Given the description of an element on the screen output the (x, y) to click on. 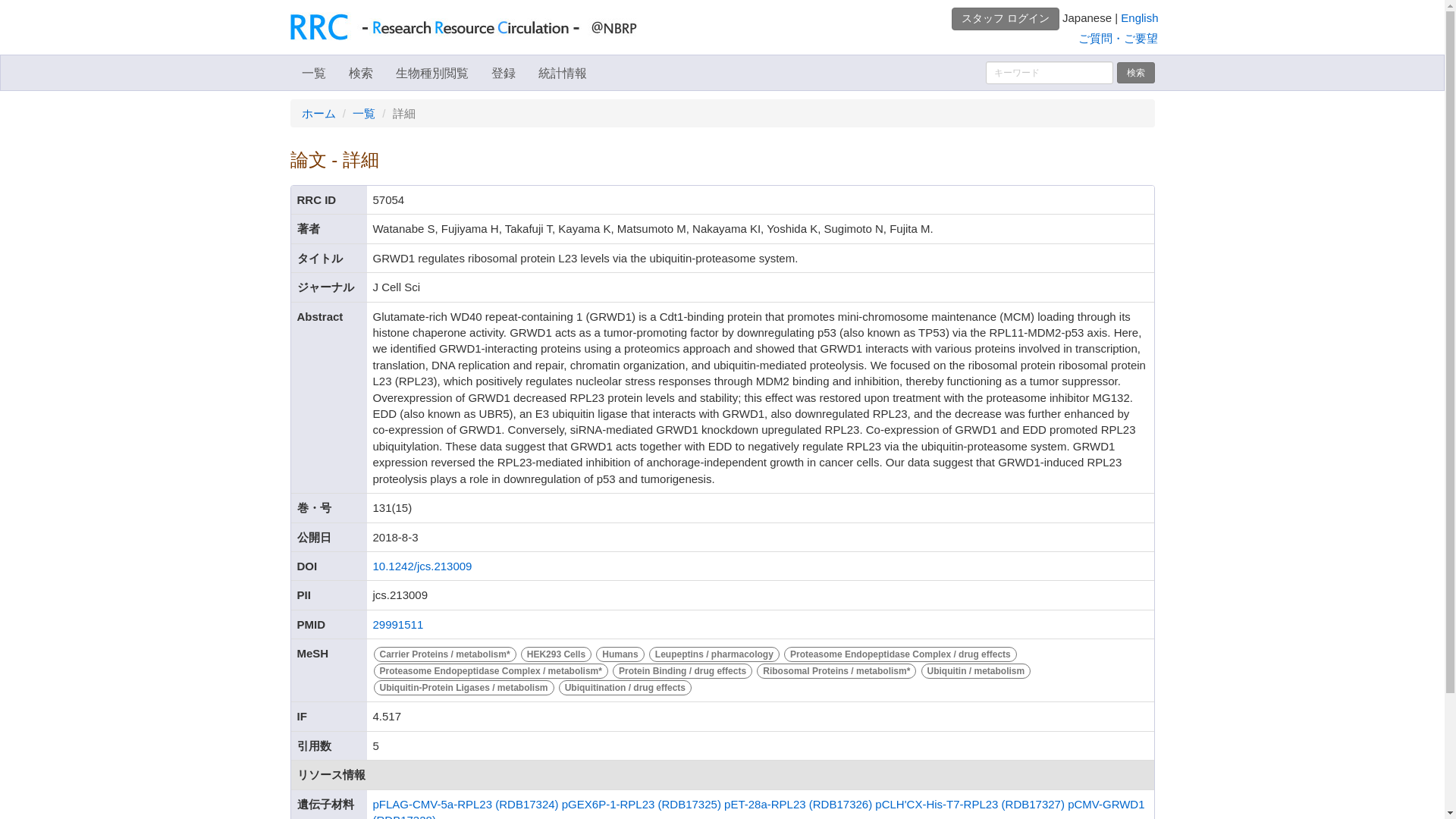
29991511 (397, 624)
Humans (621, 653)
HEK293 Cells (557, 653)
English (1139, 17)
